Given the description of an element on the screen output the (x, y) to click on. 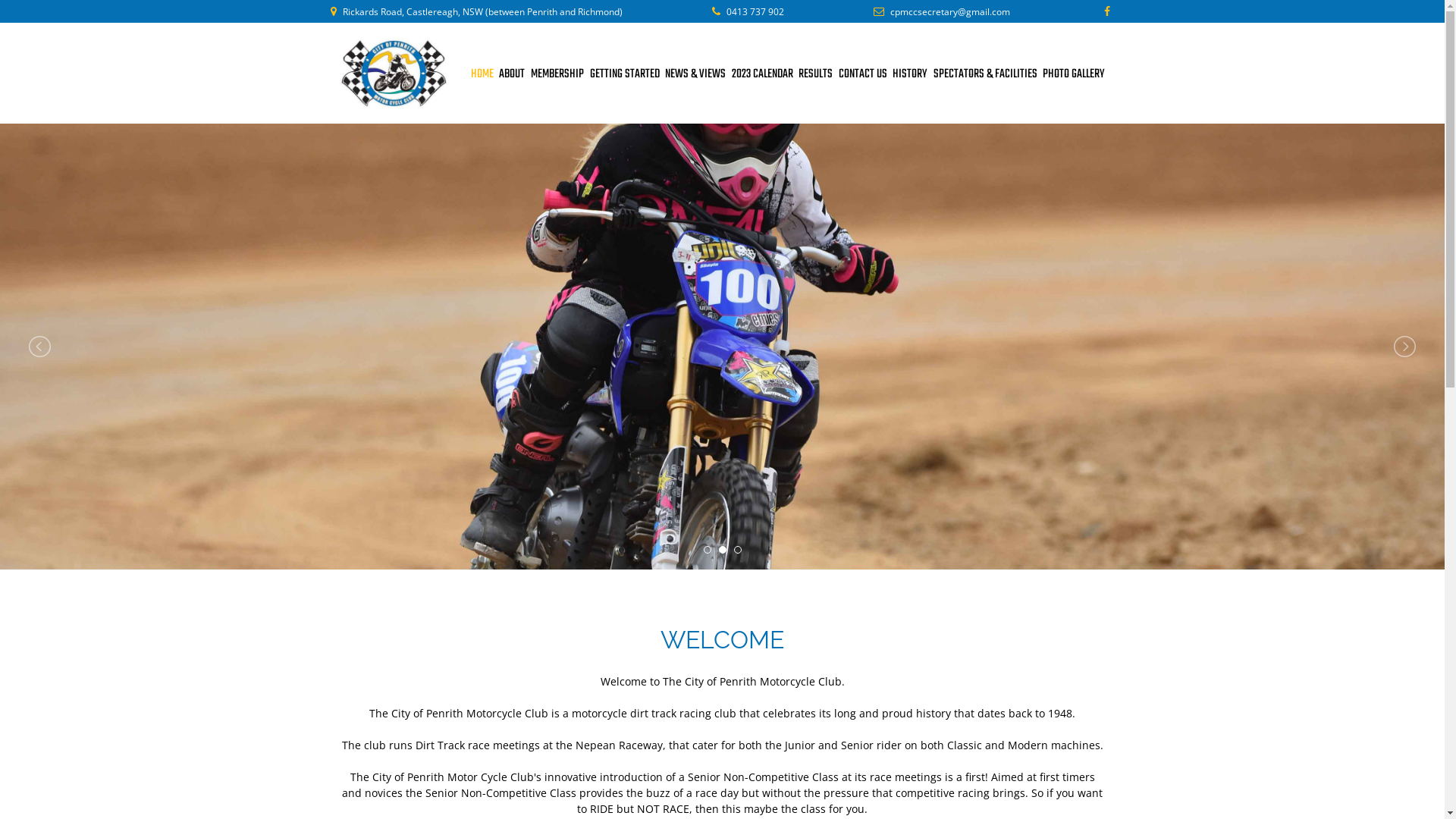
City of Penrith Motor Cycle Club Element type: hover (393, 72)
0413 737 902 Element type: text (755, 11)
ABOUT Element type: text (511, 74)
SPECTATORS & FACILITIES Element type: text (985, 74)
HOME Element type: text (481, 74)
3 Element type: text (737, 549)
NEWS & VIEWS Element type: text (695, 74)
1 Element type: text (707, 549)
MEMBERSHIP Element type: text (556, 74)
2023 CALENDAR Element type: text (762, 74)
HISTORY Element type: text (909, 74)
cpmccsecretary@gmail.com Element type: text (950, 11)
CONTACT US Element type: text (862, 74)
PHOTO GALLERY Element type: text (1073, 74)
2 Element type: text (722, 549)
RESULTS Element type: text (815, 74)
GETTING STARTED Element type: text (624, 74)
